Given the description of an element on the screen output the (x, y) to click on. 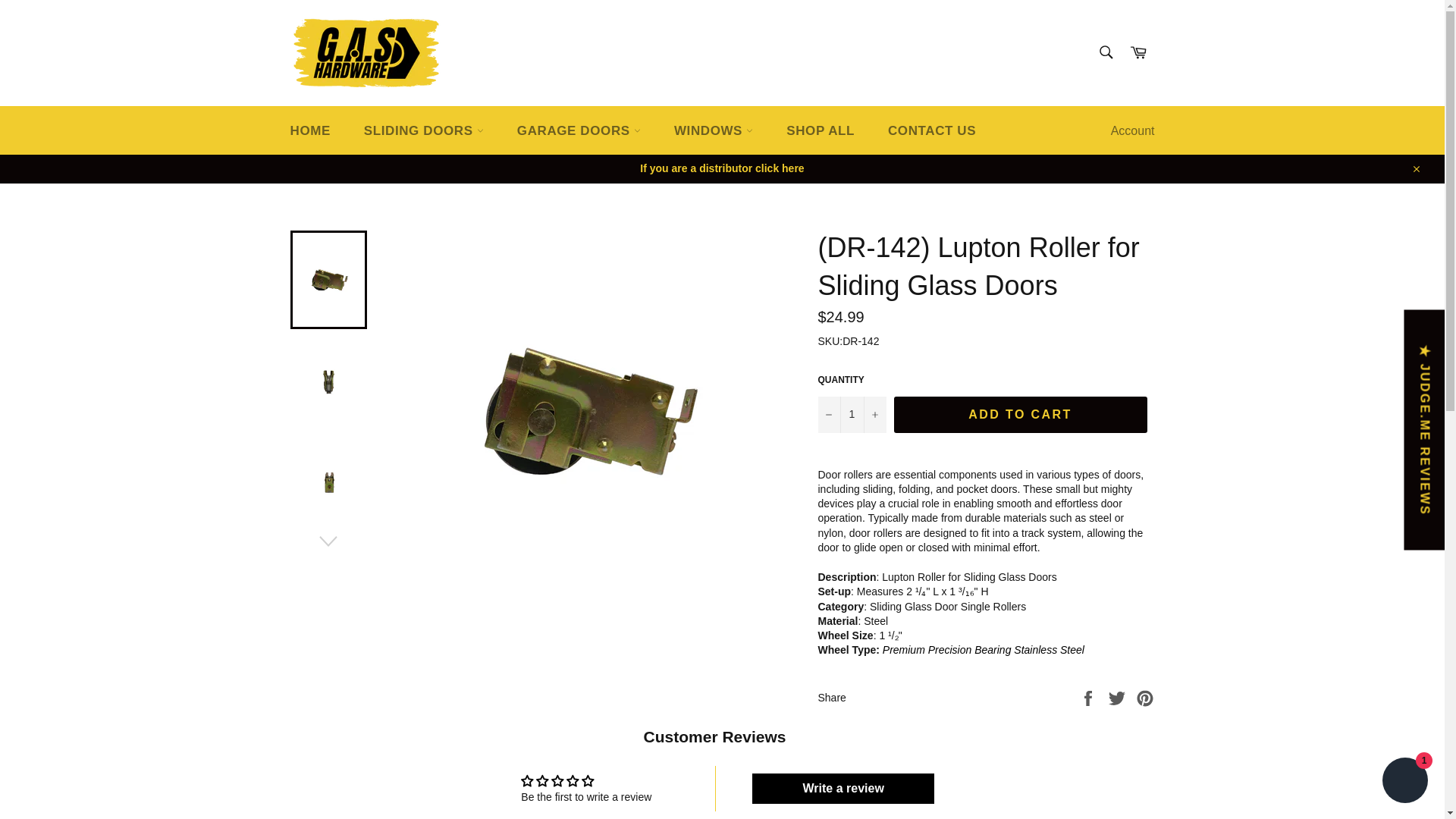
Search (1104, 51)
Share on Facebook (1089, 696)
HOME (310, 130)
Cart (1138, 53)
Tweet on Twitter (1118, 696)
Pin on Pinterest (1144, 696)
1 (850, 414)
SLIDING DOORS (424, 130)
